Given the description of an element on the screen output the (x, y) to click on. 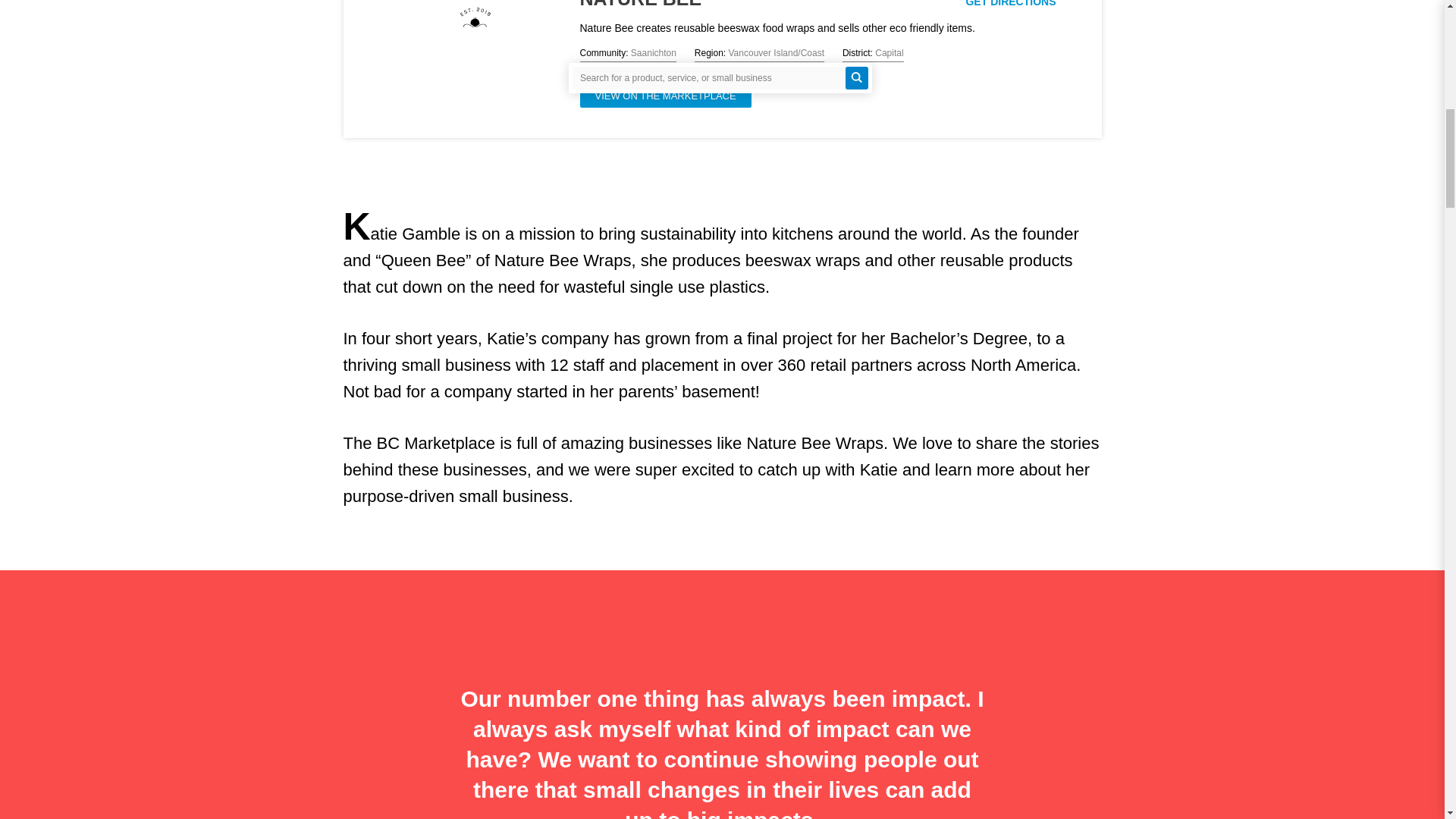
GET DIRECTIONS (1010, 3)
NATURE BEE (640, 4)
